Given the description of an element on the screen output the (x, y) to click on. 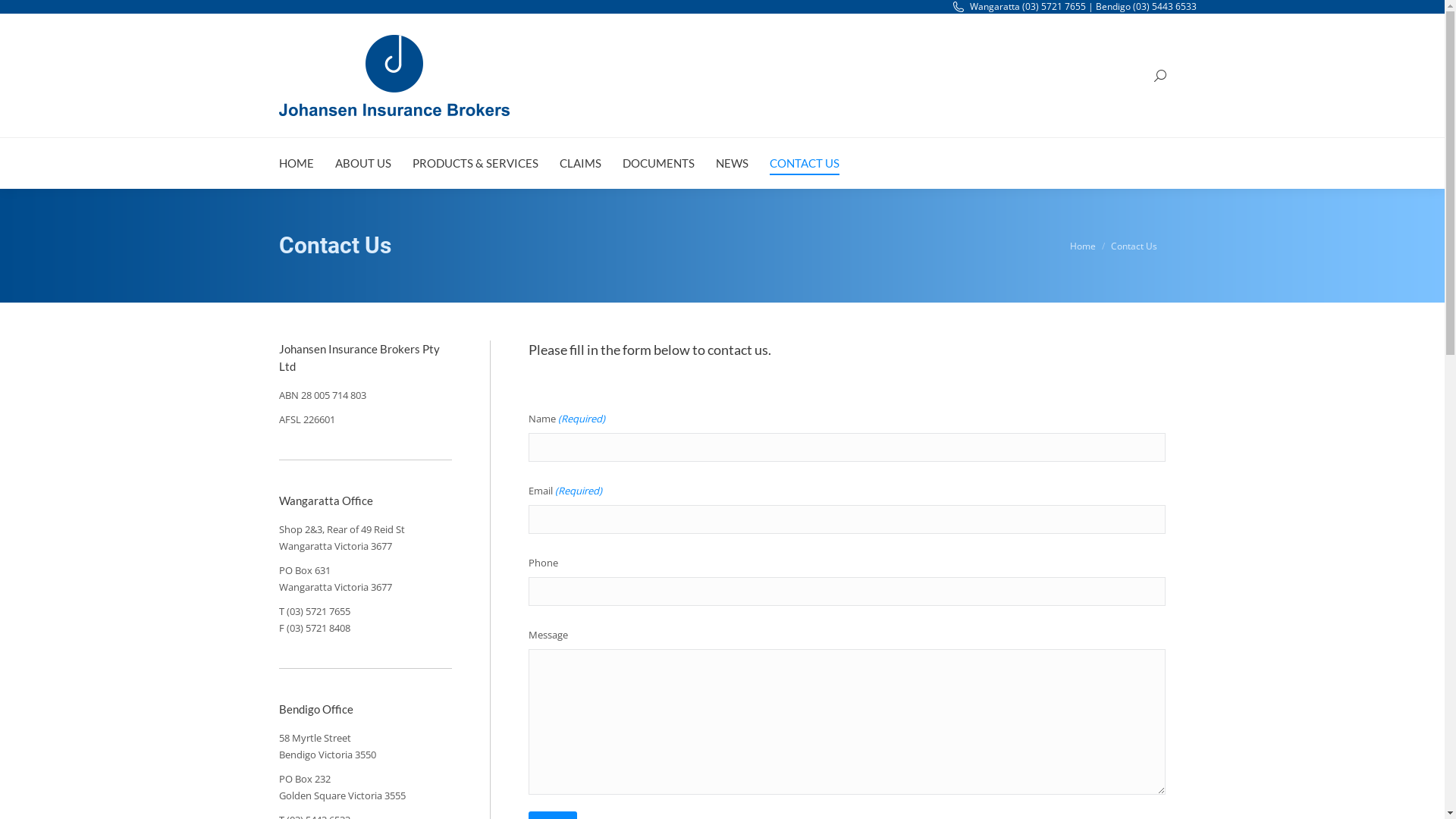
ABOUT US Element type: text (363, 163)
NEWS Element type: text (731, 163)
HOME Element type: text (296, 163)
CLAIMS Element type: text (580, 163)
DOCUMENTS Element type: text (657, 163)
CONTACT US Element type: text (803, 163)
Go! Element type: text (23, 15)
Home Element type: text (1082, 245)
PRODUCTS & SERVICES Element type: text (475, 163)
